Given the description of an element on the screen output the (x, y) to click on. 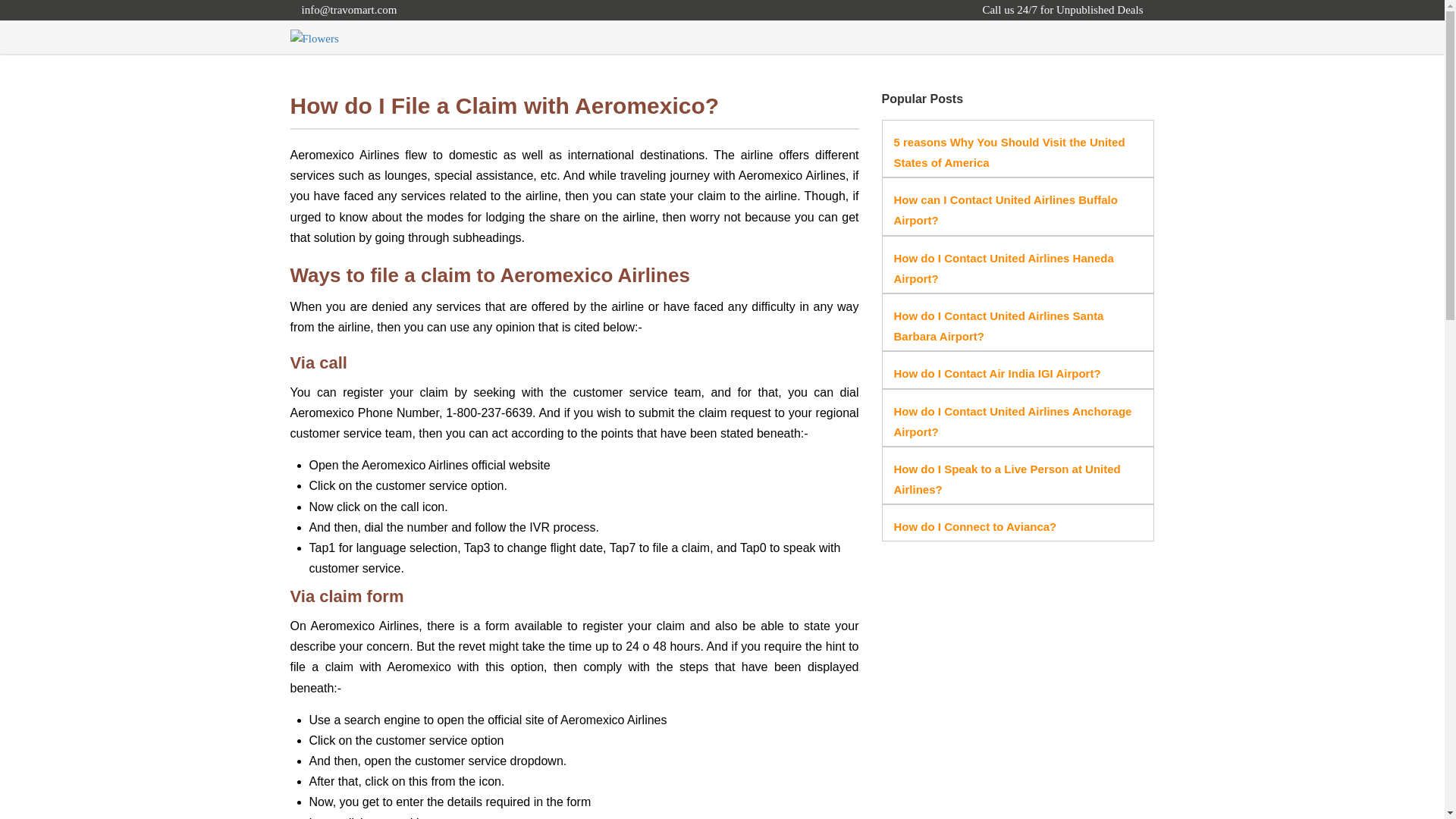
How do I Contact Air India IGI Airport? (996, 373)
How can I Contact United Airlines Buffalo Airport? (1004, 209)
How do I Speak to a Live Person at United Airlines? (1006, 479)
How do I Contact United Airlines Santa Barbara Airport? (998, 326)
How do I Contact United Airlines Haneda Airport? (1003, 268)
5 reasons Why You Should Visit the United States of America (1008, 151)
How do I Contact United Airlines Anchorage Airport? (1012, 421)
How do I Connect to Avianca? (975, 526)
